Given the description of an element on the screen output the (x, y) to click on. 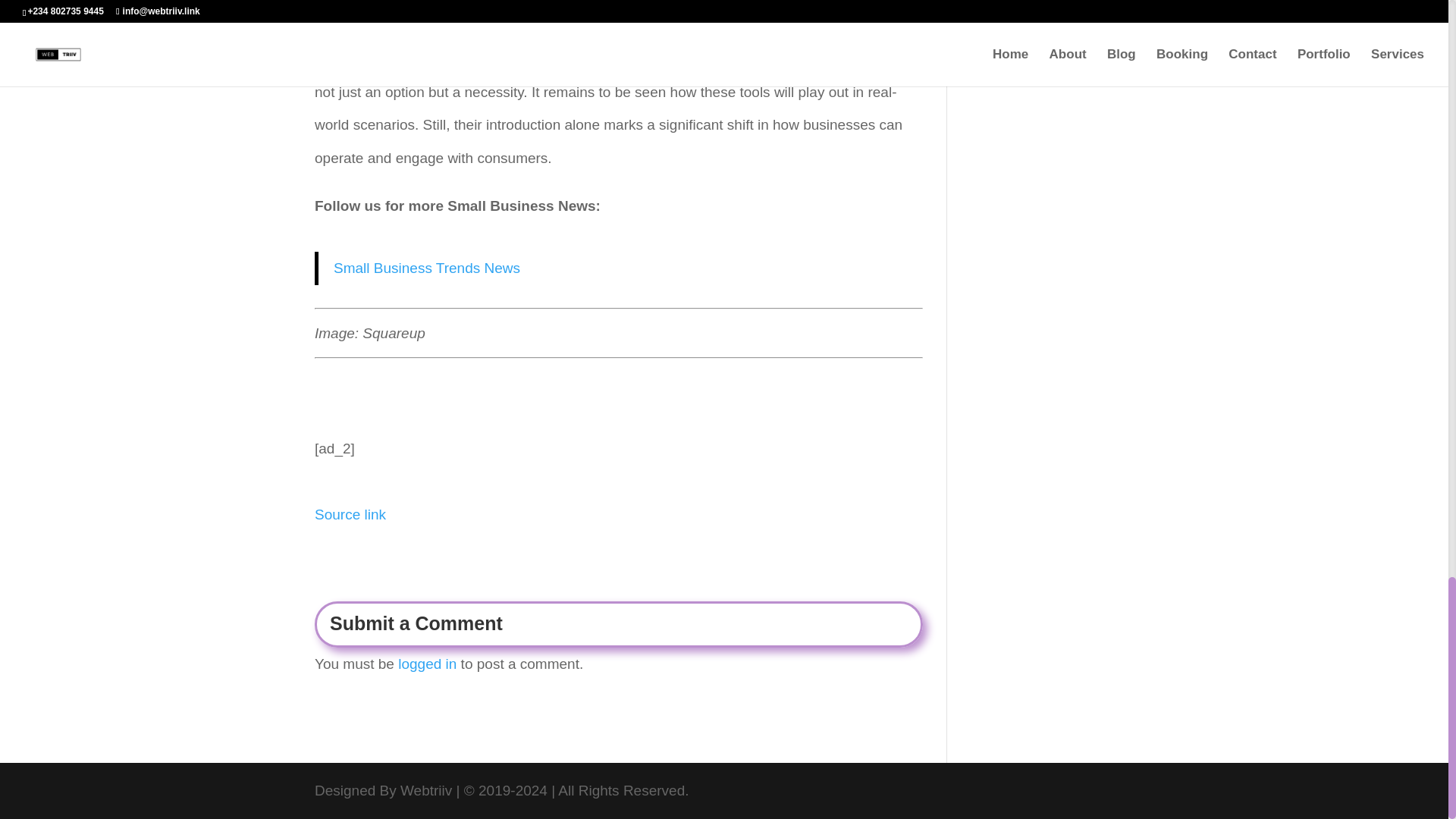
Small Business Trends News (426, 268)
logged in (427, 663)
Source link (349, 514)
